Given the description of an element on the screen output the (x, y) to click on. 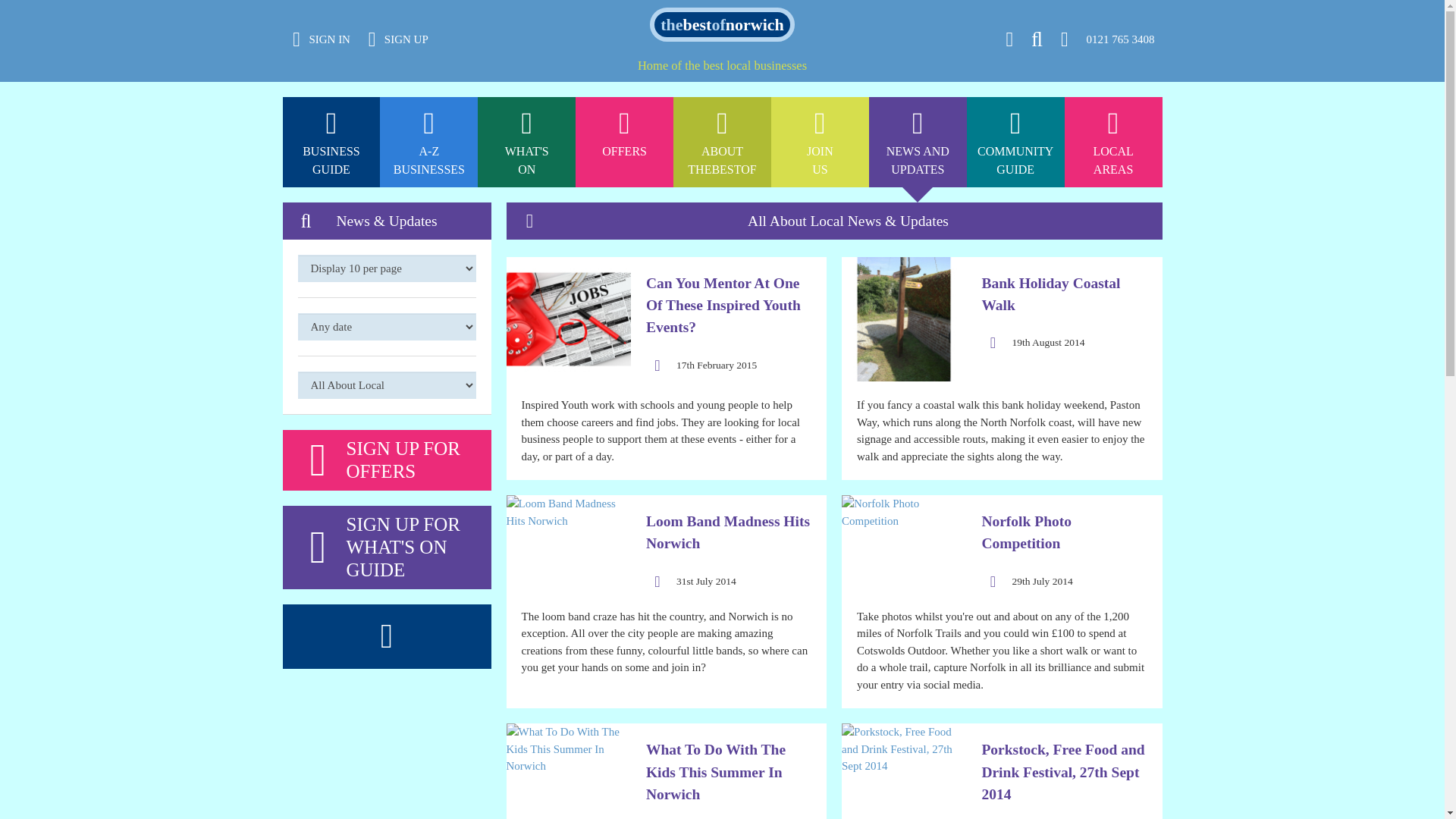
OFFERS (428, 7)
0121 765 3408 (623, 142)
SIGN IN (1112, 7)
